Given the description of an element on the screen output the (x, y) to click on. 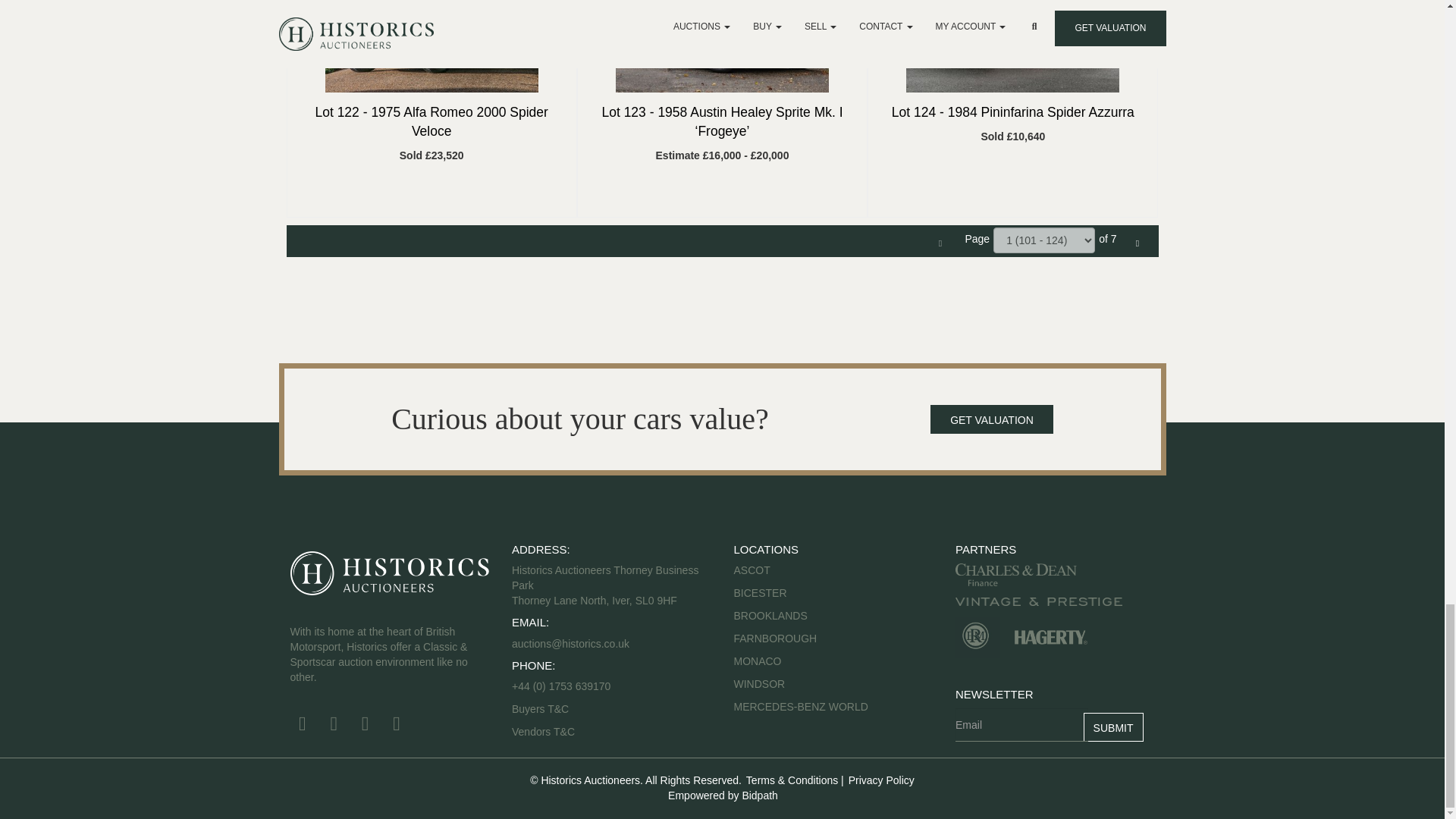
Submit (1112, 727)
Go to our youtube page (366, 726)
Go to our twitter page (335, 726)
Go to our instagram page (398, 726)
Go to our facebook page (303, 726)
Privacy Policy (880, 779)
